Given the description of an element on the screen output the (x, y) to click on. 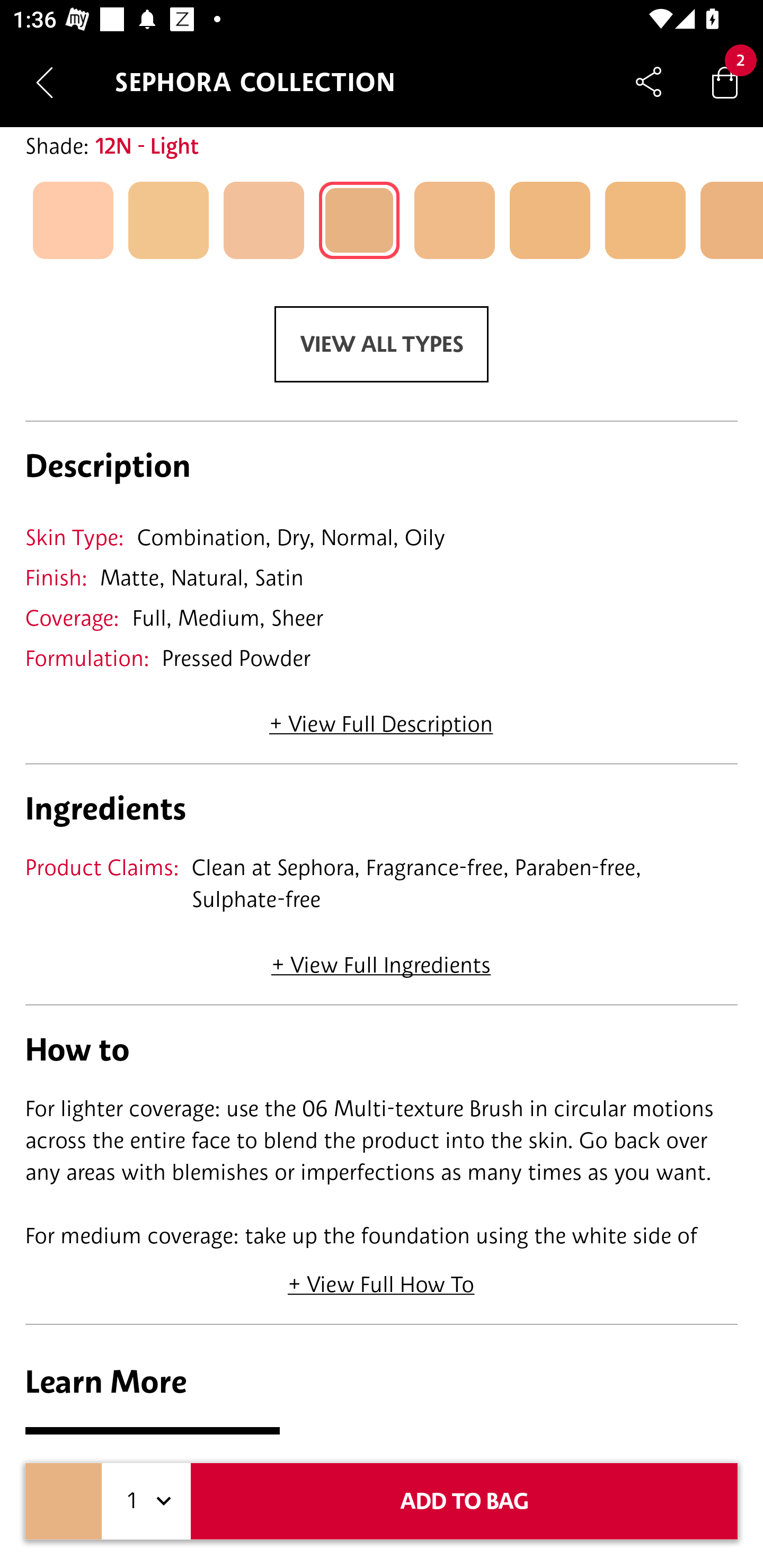
Navigate up (44, 82)
Share (648, 81)
Bag (724, 81)
VIEW ALL TYPES (381, 343)
+ View Full Description (380, 717)
+ View Full Ingredients (380, 958)
+ View Full How To (381, 1277)
1 (145, 1500)
ADD TO BAG (463, 1500)
